Given the description of an element on the screen output the (x, y) to click on. 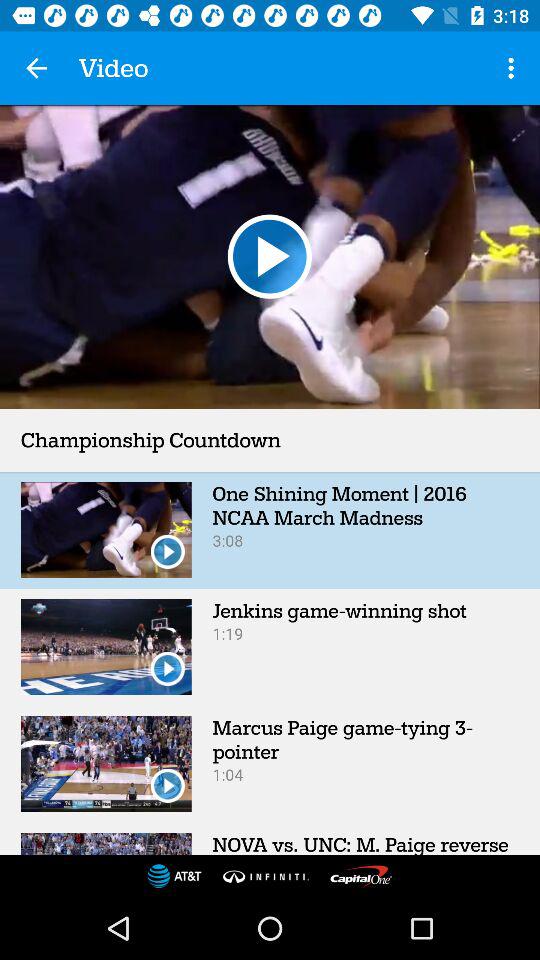
select the item to the right of video app (513, 67)
